Given the description of an element on the screen output the (x, y) to click on. 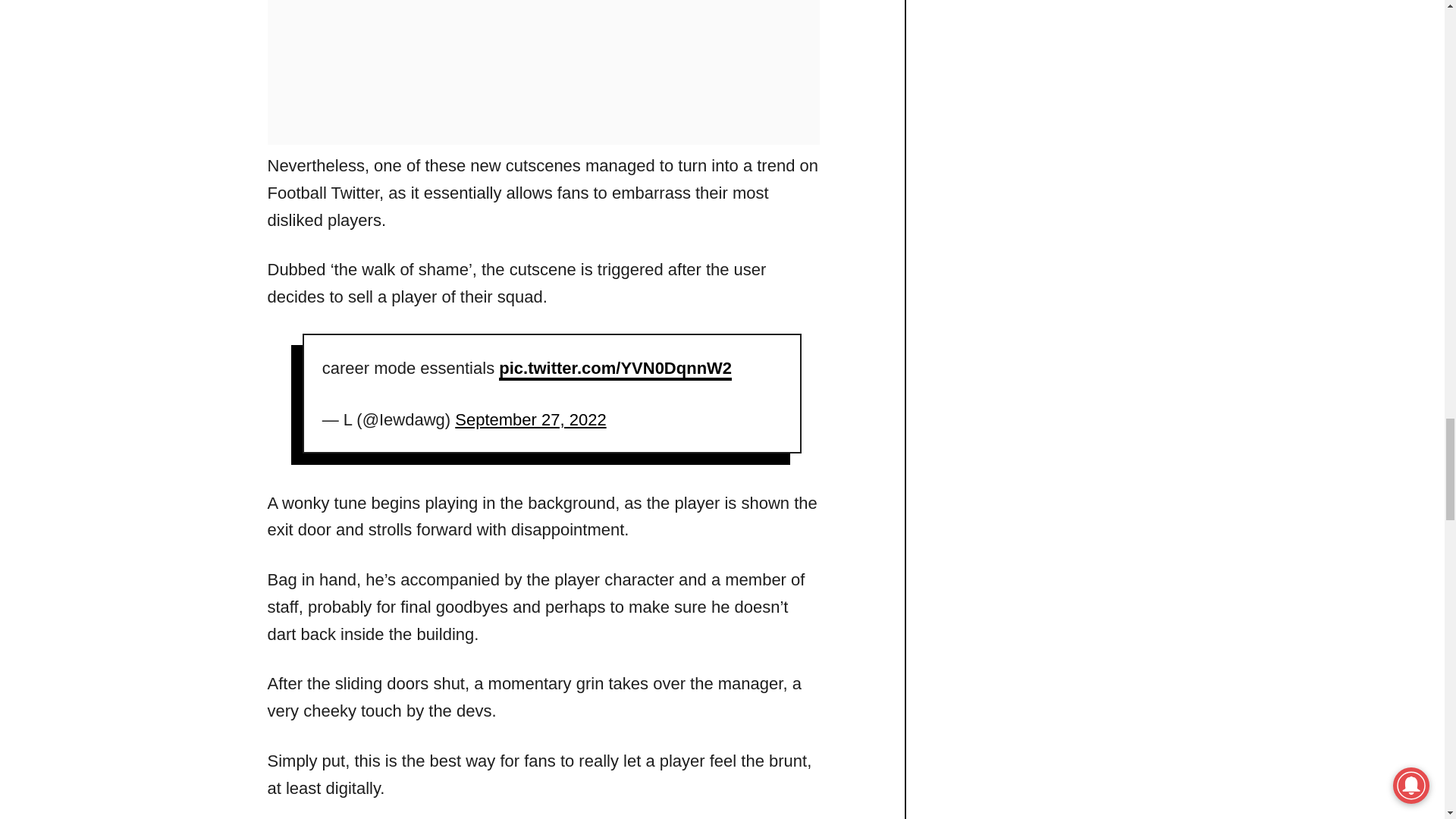
September 27, 2022 (529, 419)
